Given the description of an element on the screen output the (x, y) to click on. 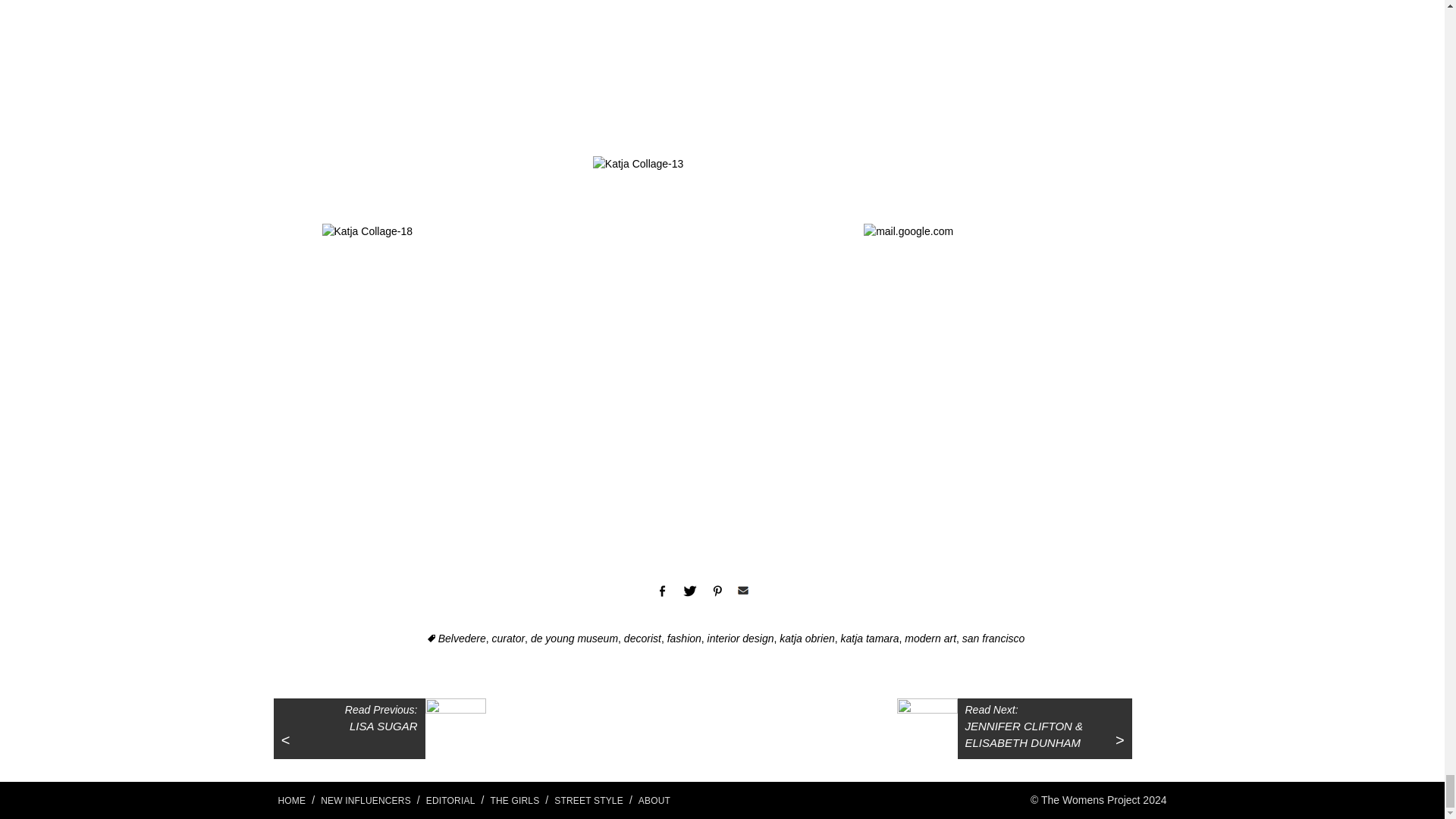
curator (508, 638)
interior design (740, 638)
Tweet about this (688, 591)
modern art (930, 638)
Pin this page (716, 591)
fashion (683, 638)
Email this page (742, 590)
Share this on Facebook (661, 591)
decorist (642, 638)
san francisco (993, 638)
Belvedere (456, 638)
de young museum (574, 638)
katja tamara (869, 638)
katja obrien (806, 638)
